Given the description of an element on the screen output the (x, y) to click on. 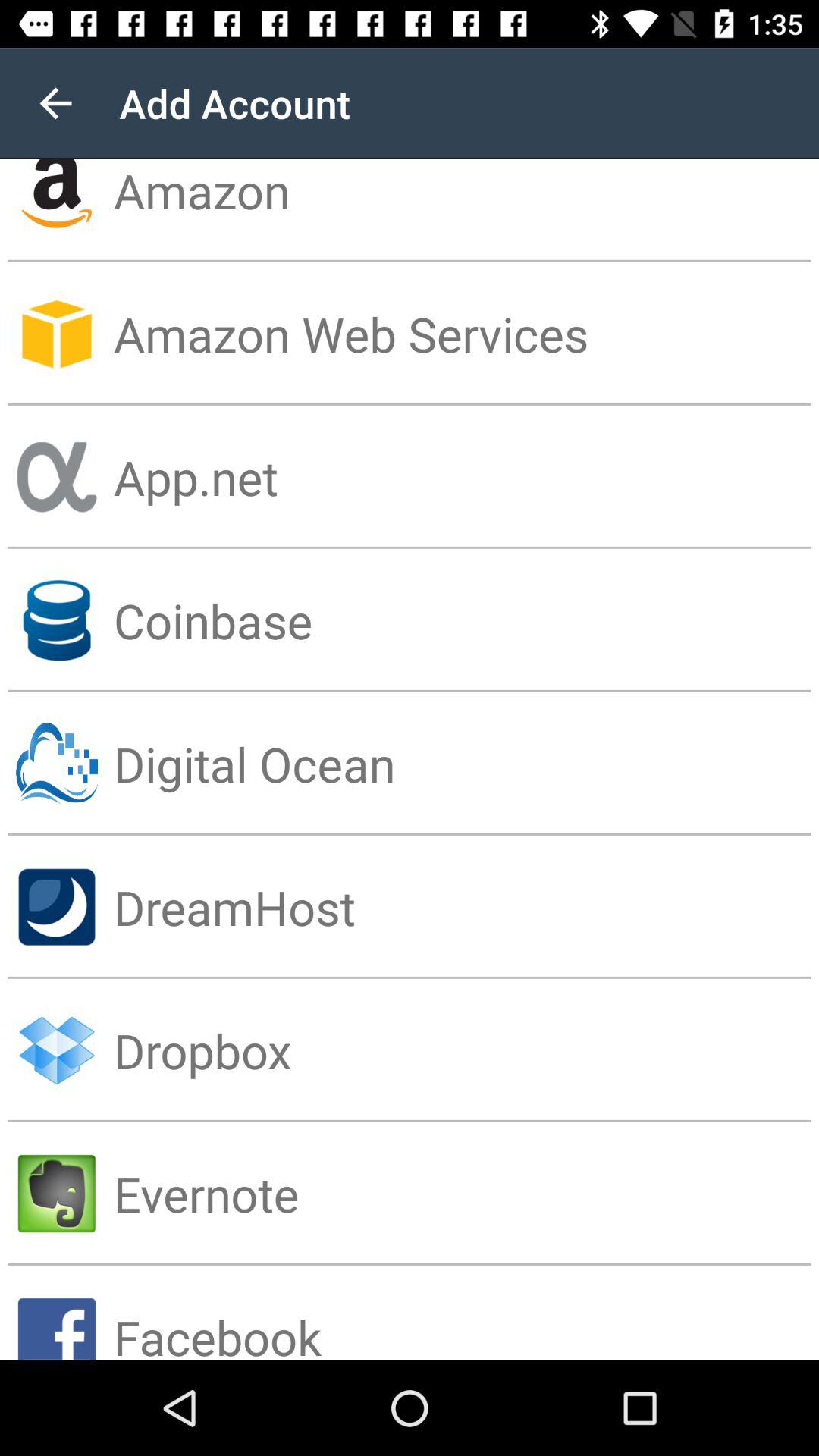
tap icon below the dreamhost (466, 1050)
